Given the description of an element on the screen output the (x, y) to click on. 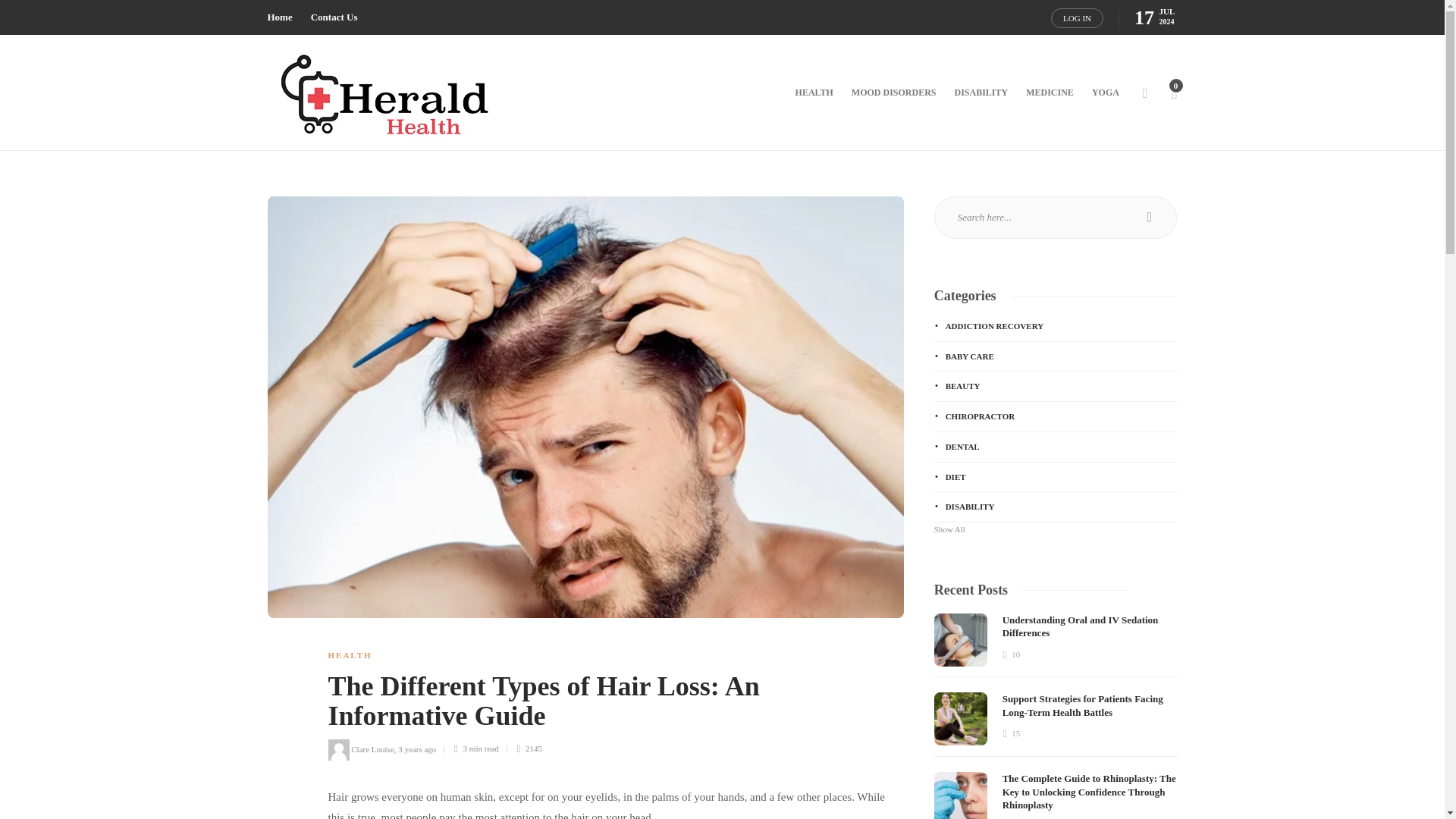
Home (279, 17)
MEDICINE (1050, 92)
0 (1173, 92)
Clare Louise (372, 747)
DISABILITY (980, 92)
Contact Us (334, 17)
HEALTH (349, 655)
The Different Types of Hair Loss: An Informative Guide  (603, 705)
Search text (1055, 217)
HEALTH (813, 92)
3 years ago (416, 747)
YOGA (1105, 92)
LOG IN (1077, 17)
MOOD DISORDERS (893, 92)
